Given the description of an element on the screen output the (x, y) to click on. 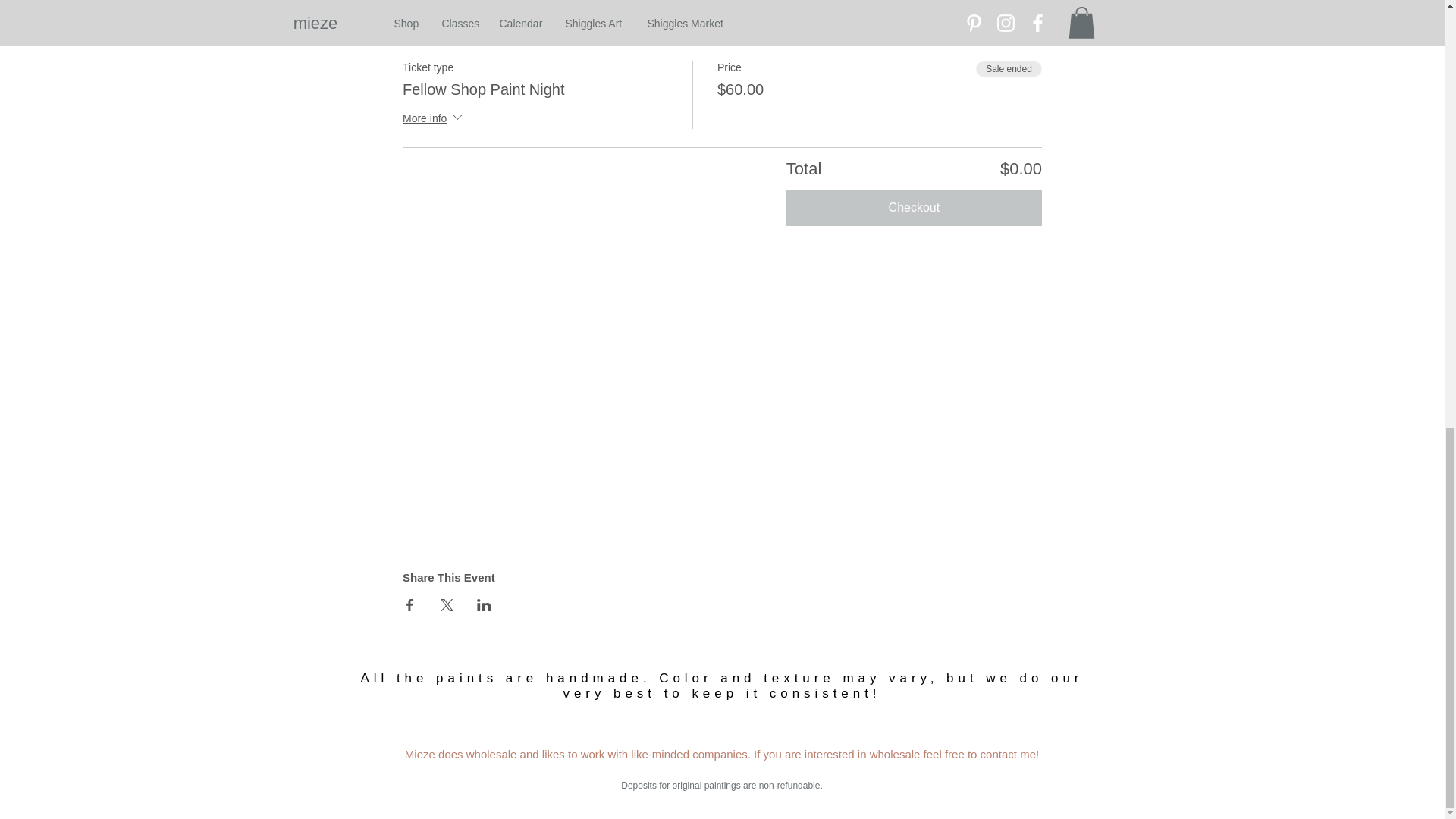
Checkout (914, 207)
More info (434, 118)
